Given the description of an element on the screen output the (x, y) to click on. 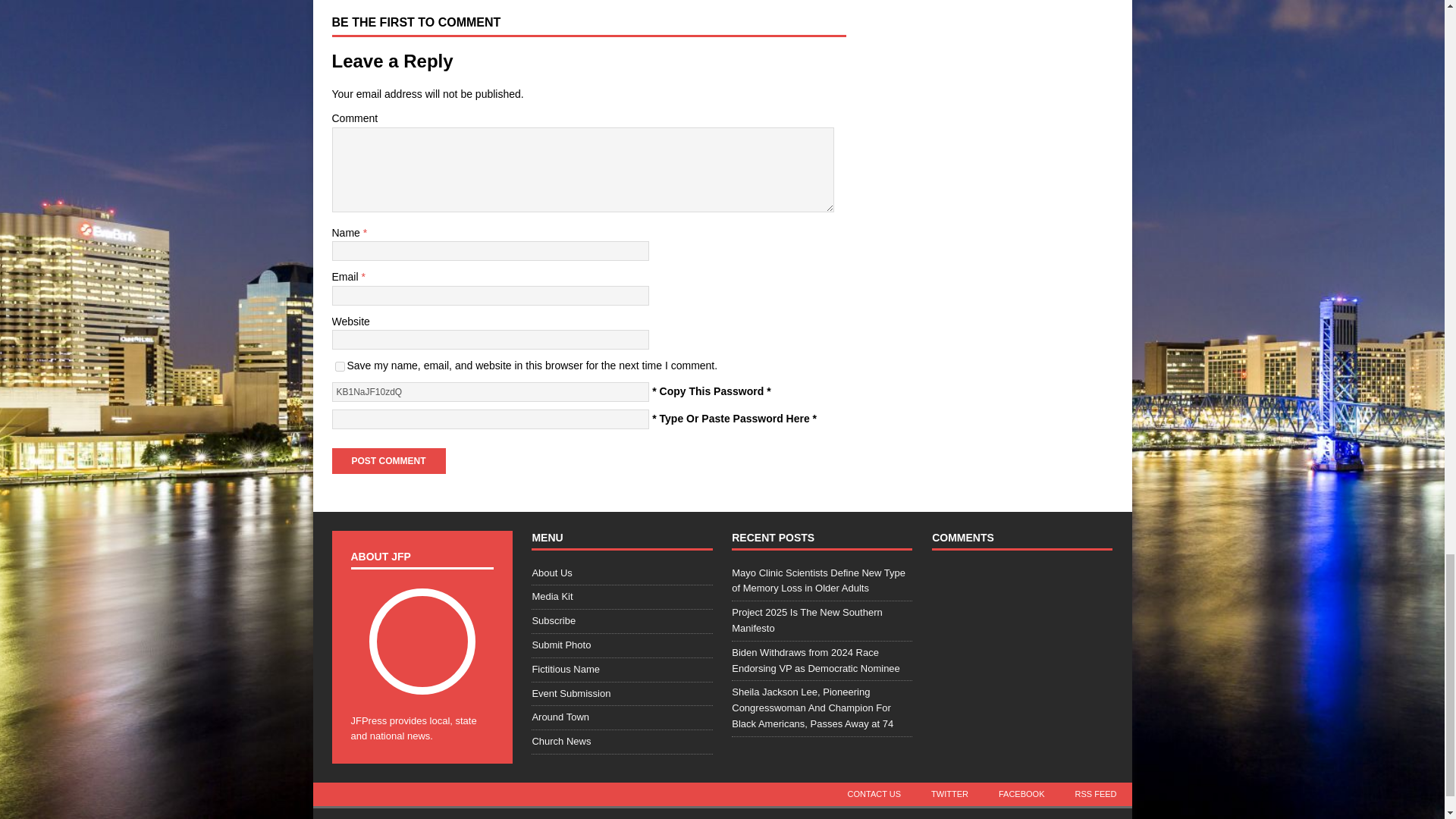
yes (339, 366)
KB1NaJF10zdQ (490, 392)
Post Comment (388, 460)
